Given the description of an element on the screen output the (x, y) to click on. 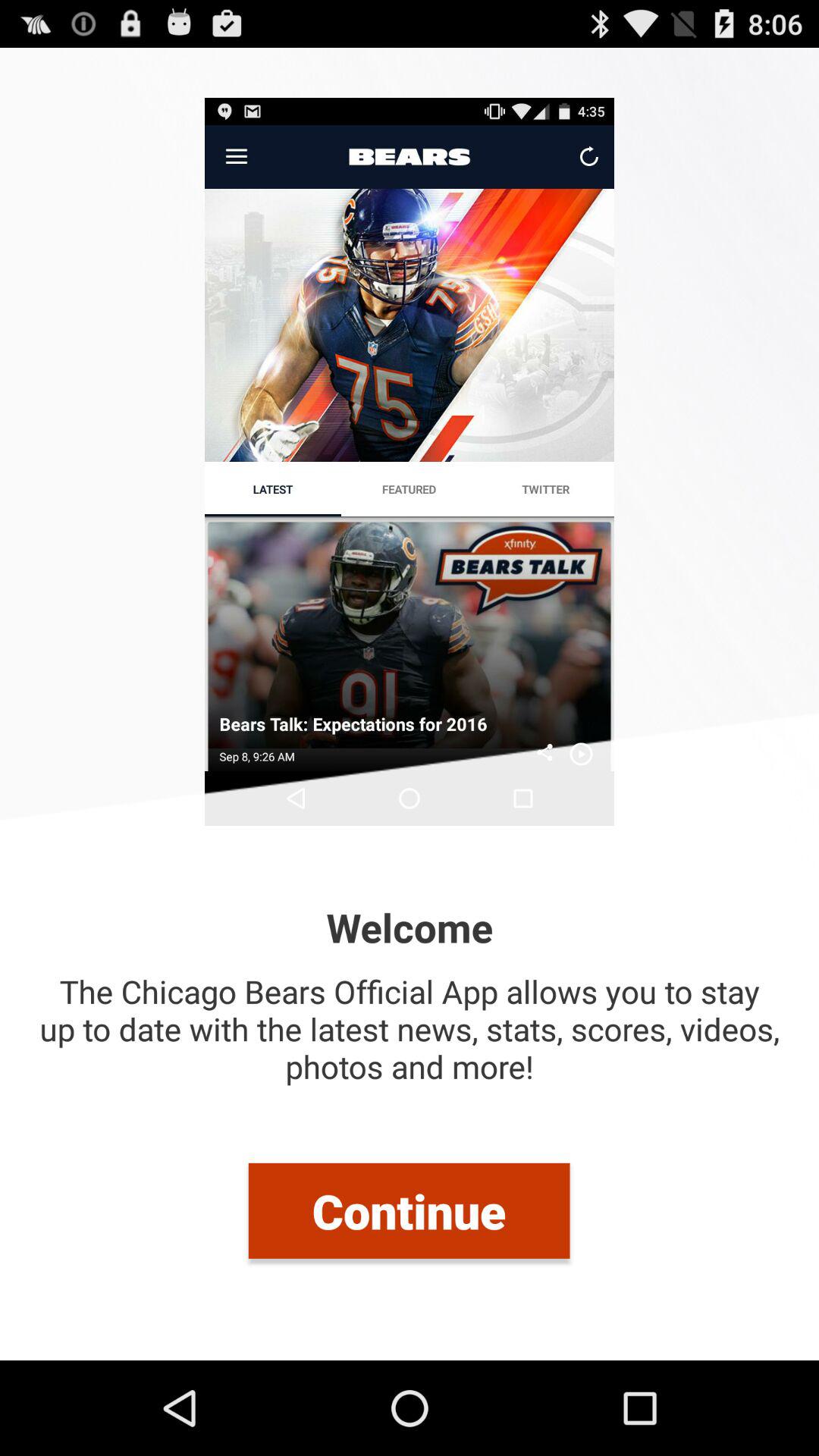
jump to continue (408, 1210)
